Given the description of an element on the screen output the (x, y) to click on. 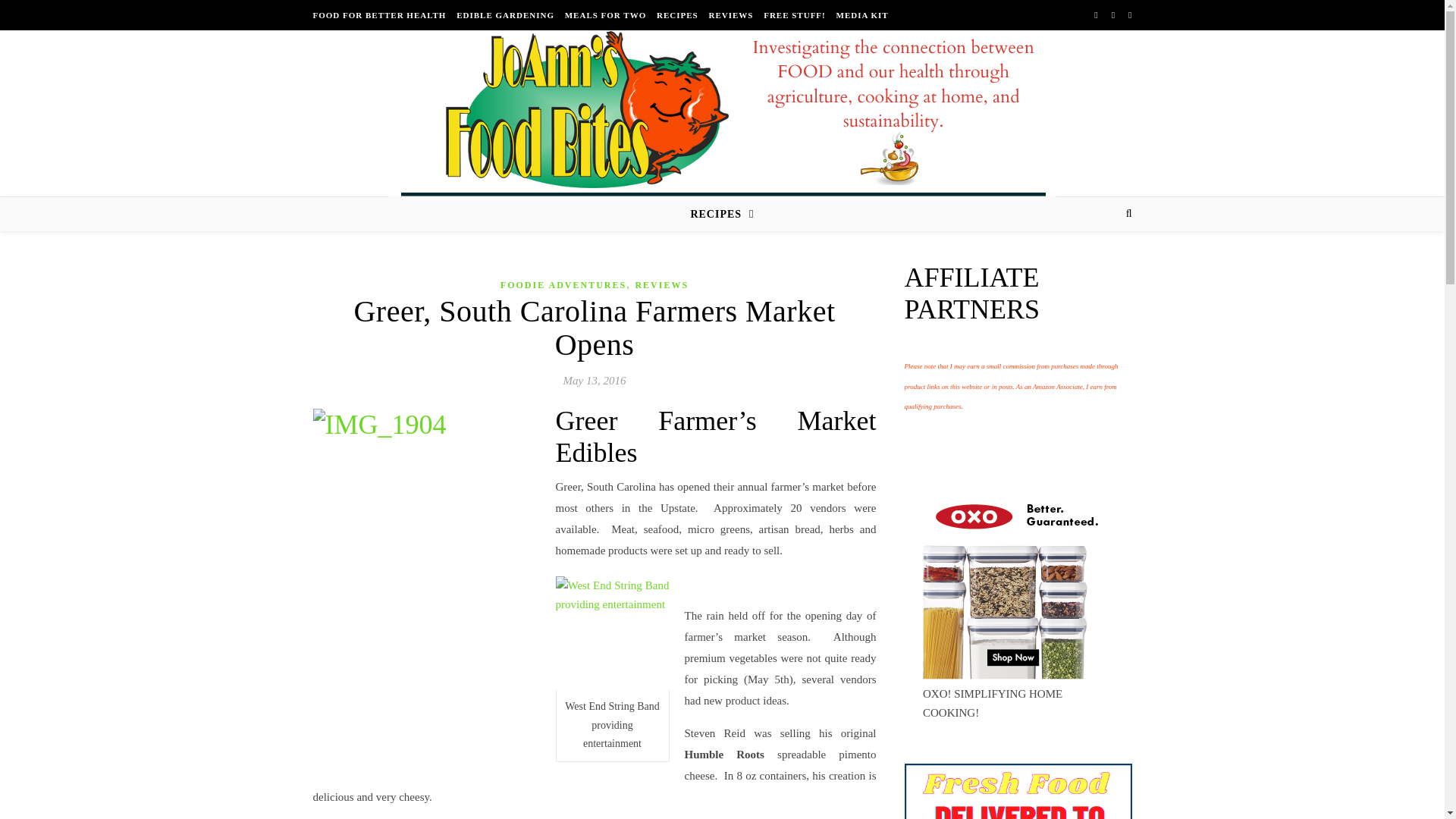
REVIEWS (730, 15)
FREE STUFF! (794, 15)
MEALS FOR TWO (605, 15)
JoAnn's Food Bites (722, 125)
FOOD FOR BETTER HEALTH (381, 15)
MEDIA KIT (860, 15)
RECIPES (676, 15)
EDIBLE GARDENING (504, 15)
